Given the description of an element on the screen output the (x, y) to click on. 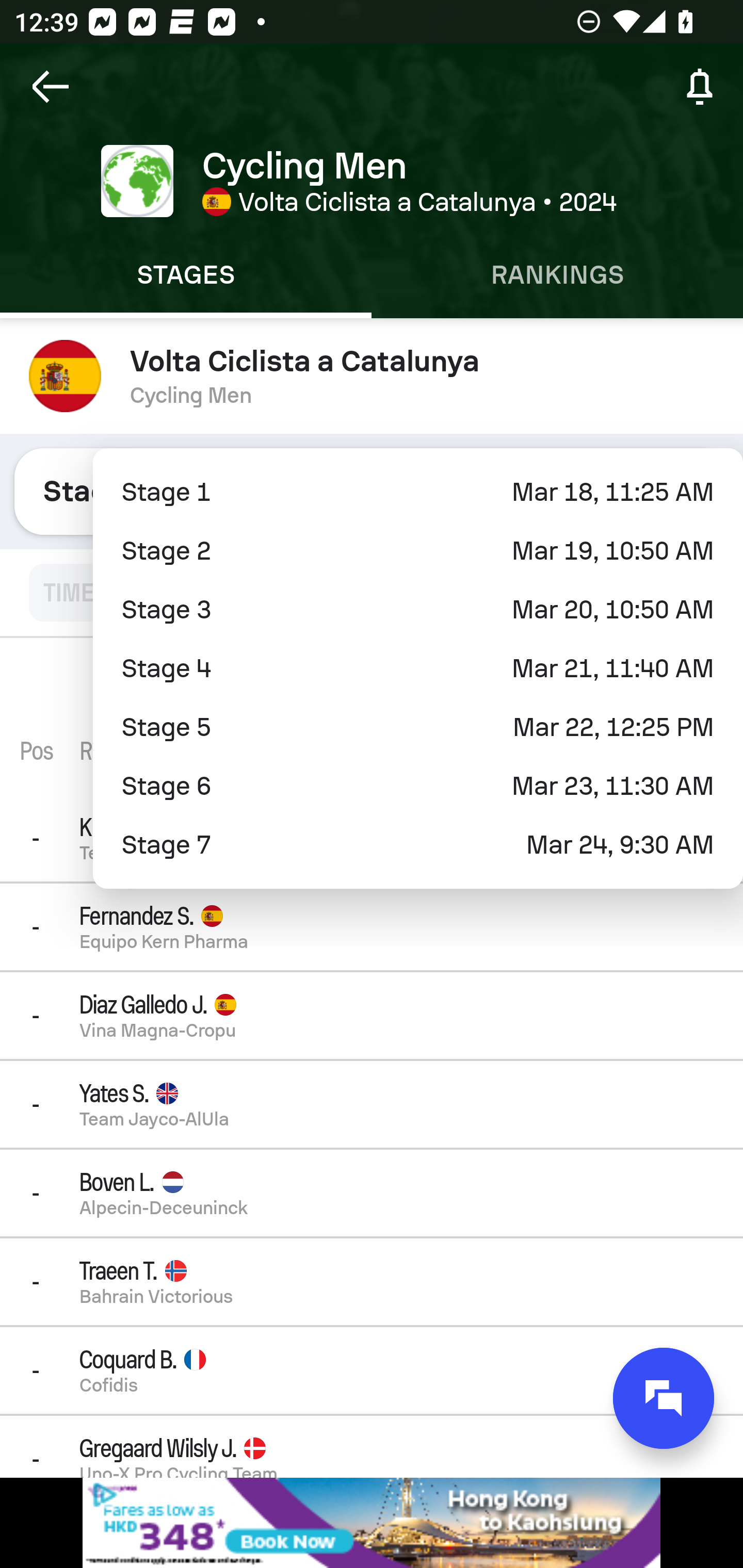
Stage 1 Mar 18, 11:25 AM (417, 492)
Stage 2 Mar 19, 10:50 AM (417, 551)
Stage 3 Mar 20, 10:50 AM (417, 609)
Stage 4 Mar 21, 11:40 AM (417, 668)
Stage 5 Mar 22, 12:25 PM (417, 727)
Stage 6 Mar 23, 11:30 AM (417, 786)
Stage 7 Mar 24, 9:30 AM (417, 844)
